Given the description of an element on the screen output the (x, y) to click on. 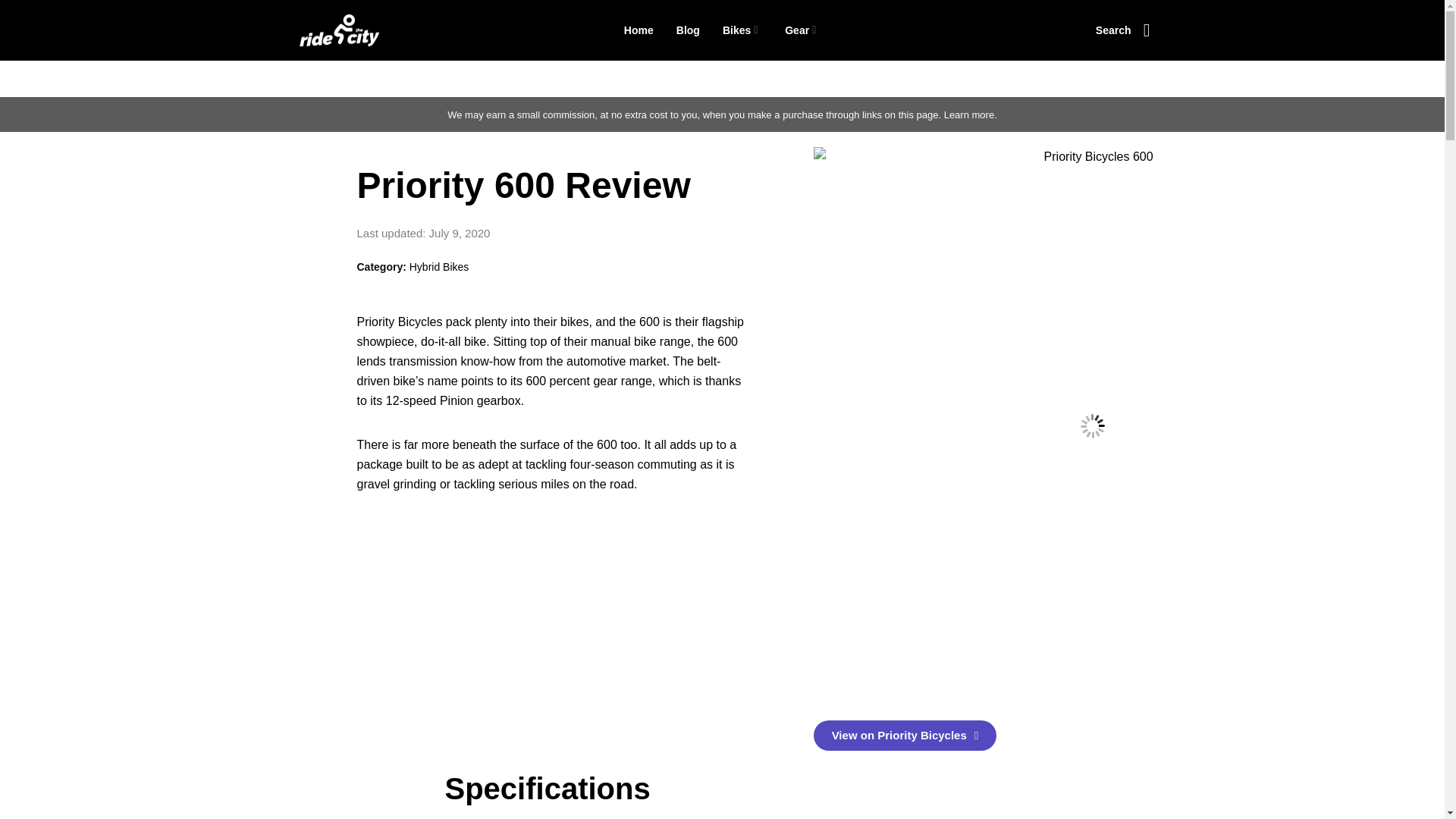
Gear (802, 30)
Learn more. (970, 114)
Bikes (741, 30)
Search (1123, 30)
